Given the description of an element on the screen output the (x, y) to click on. 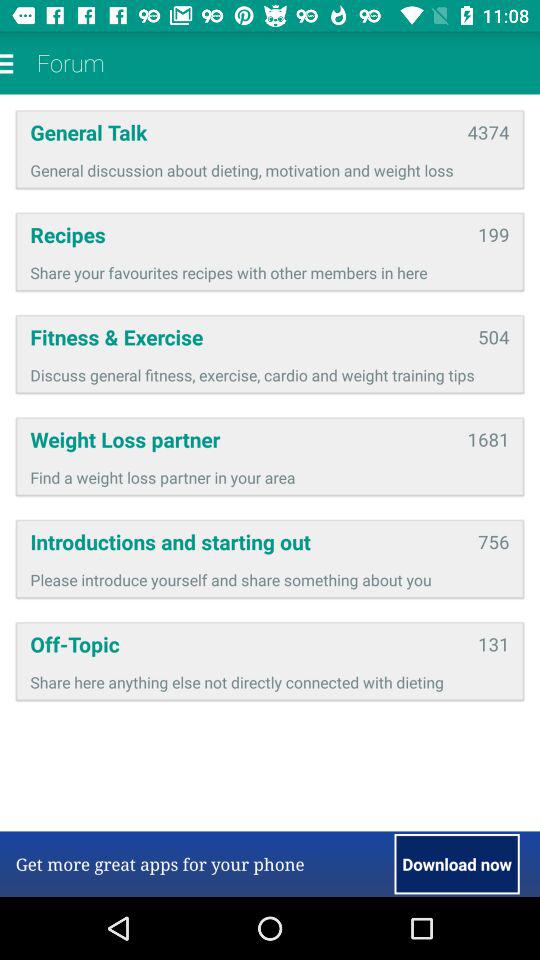
turn off the item above off-topic icon (269, 579)
